Given the description of an element on the screen output the (x, y) to click on. 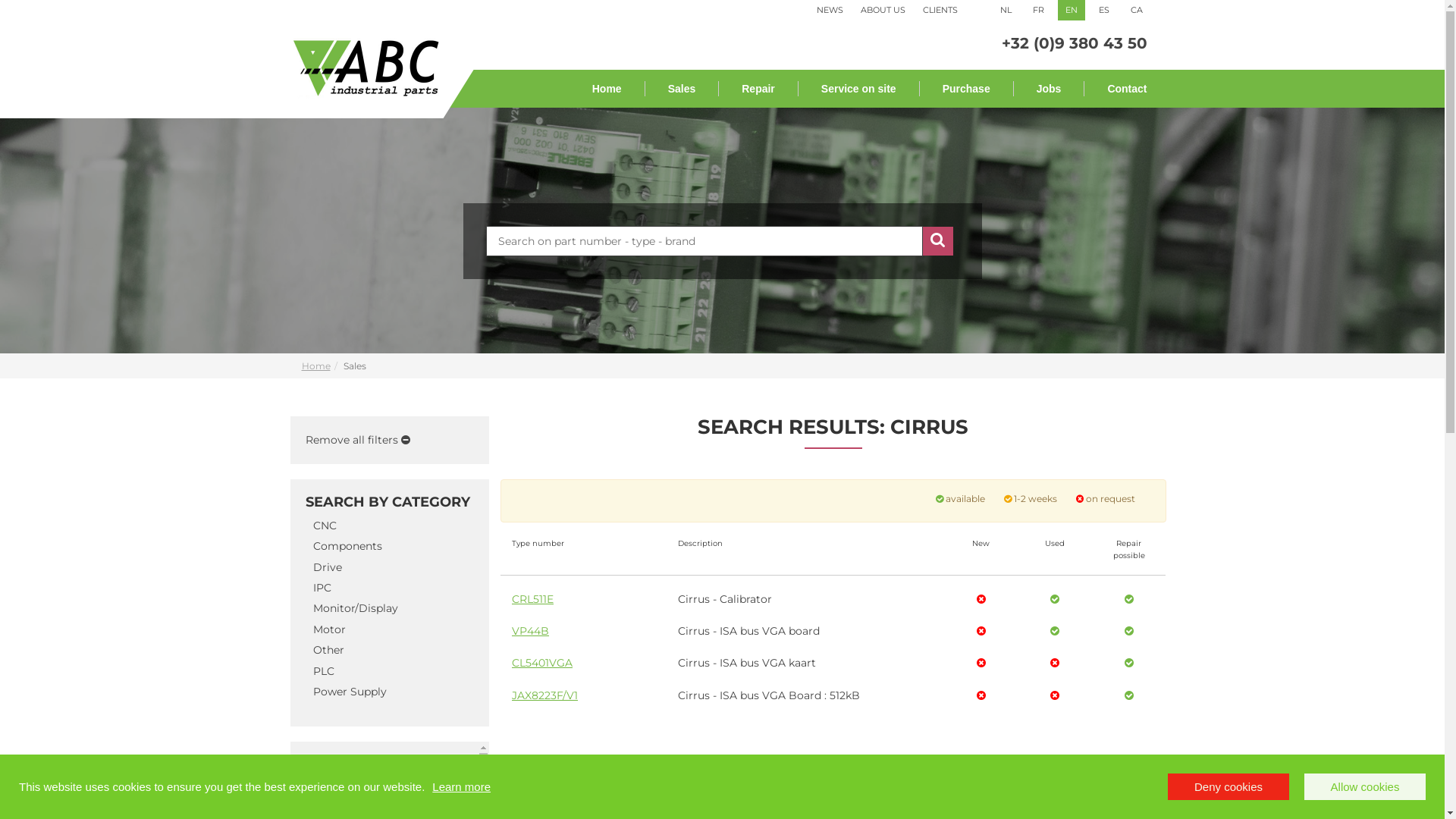
NL Element type: text (1005, 10)
Cirrus - ISA bus VGA Board : 512kB Element type: text (768, 695)
+32 (0)9 380 43 50 Element type: text (1073, 43)
Home Element type: text (315, 365)
Jobs Element type: text (1049, 88)
Service on site Element type: text (858, 88)
Cirrus - ISA bus VGA kaart Element type: text (746, 662)
VP44B Element type: text (530, 630)
IPC Element type: text (321, 587)
Repair Element type: text (758, 88)
CLIENTS Element type: text (939, 9)
EN Element type: text (1071, 10)
PLC Element type: text (322, 670)
CRL511E Element type: text (532, 598)
FR Element type: text (1038, 10)
Cirrus - Calibrator Element type: text (724, 598)
Sales Element type: text (682, 88)
JAX8223F/V1 Element type: text (544, 695)
Learn more Element type: text (461, 786)
NEWS Element type: text (829, 9)
ABOUT US Element type: text (882, 9)
Home Element type: text (607, 88)
Remove all filters Element type: text (356, 439)
Motor Element type: text (328, 629)
CL5401VGA Element type: text (541, 662)
Deny cookies Element type: text (1228, 786)
Drive Element type: text (326, 567)
CA Element type: text (1136, 10)
Purchase Element type: text (966, 88)
CNC Element type: text (323, 525)
Other Element type: text (327, 649)
ABC Industrial Parts Element type: hover (365, 66)
Components Element type: text (346, 545)
Cirrus - ISA bus VGA board Element type: text (748, 630)
ES Element type: text (1104, 10)
Power Supply Element type: text (348, 691)
Allow cookies Element type: text (1364, 786)
Monitor/Display Element type: text (354, 608)
Contact Element type: text (1119, 88)
